Given the description of an element on the screen output the (x, y) to click on. 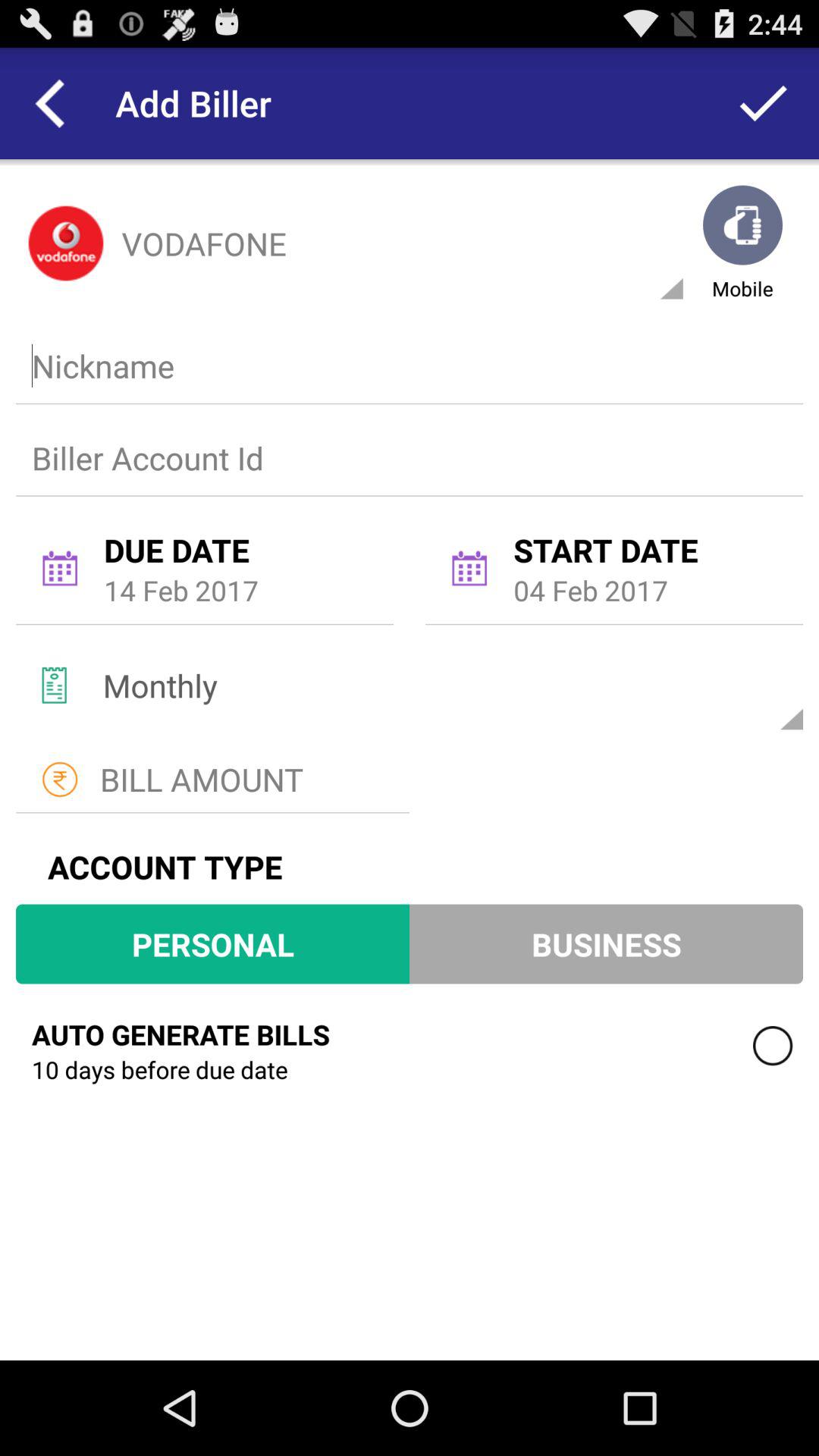
turn on icon below the account type app (212, 943)
